Given the description of an element on the screen output the (x, y) to click on. 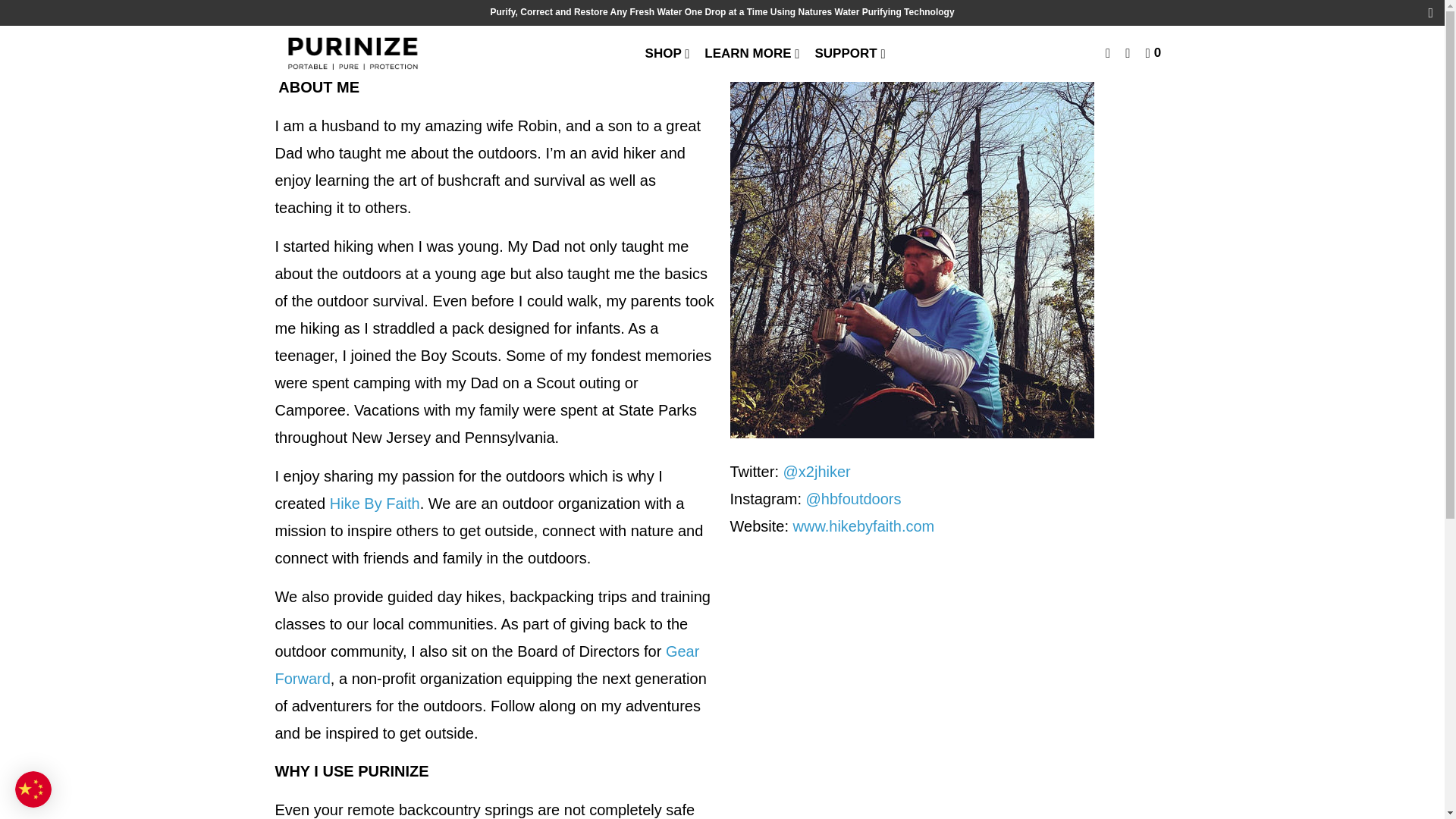
SHOP (668, 53)
Hike By Faith (375, 503)
Gear Forward (486, 664)
PURINIZE (352, 53)
